Given the description of an element on the screen output the (x, y) to click on. 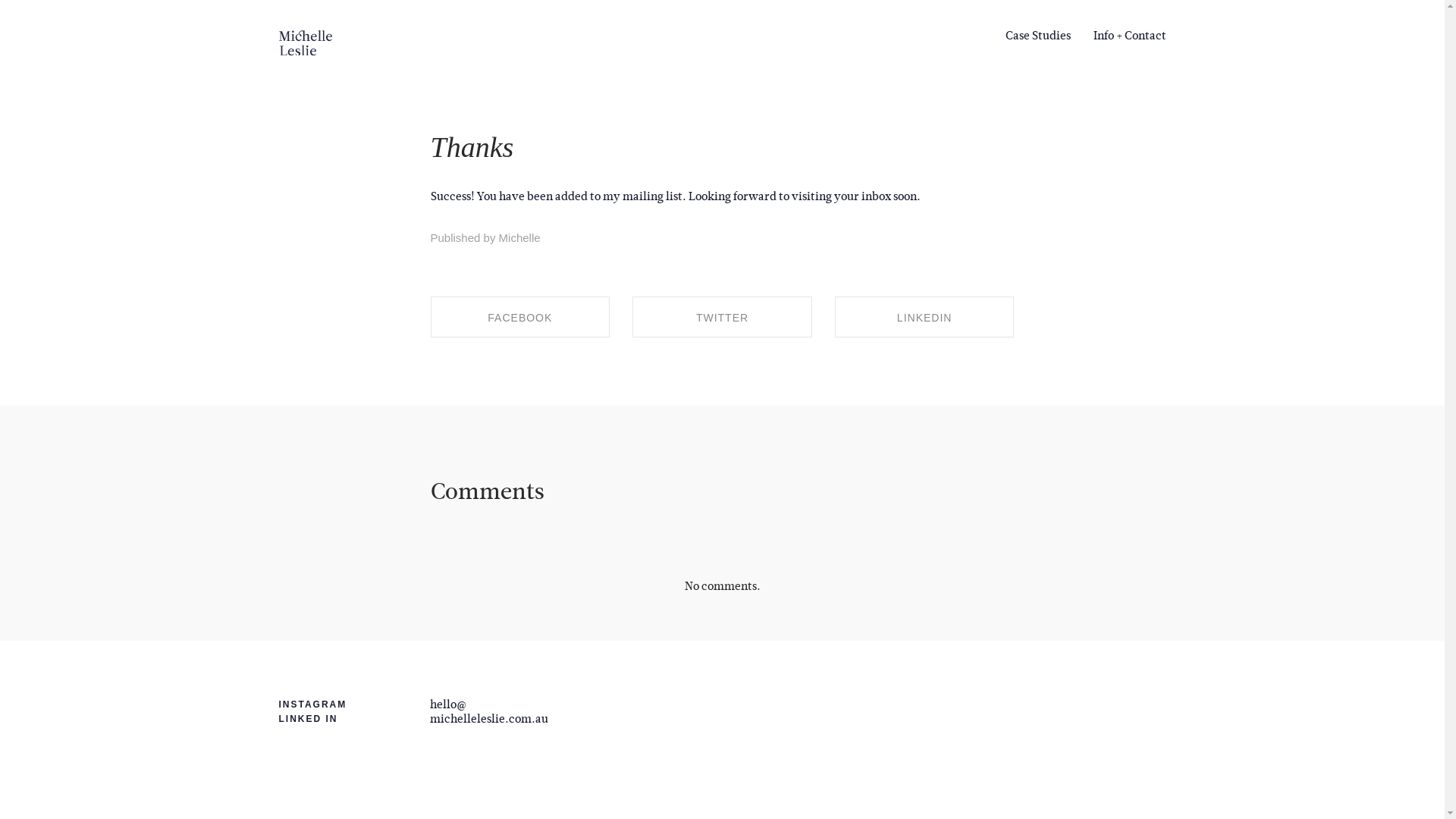
LINKED IN Element type: text (308, 718)
Case Studies Element type: text (1043, 35)
INSTAGRAM Element type: text (313, 704)
Thanks Element type: text (472, 147)
hello@
michelleleslie.com.au Element type: text (488, 711)
Info + Contact Element type: text (1123, 35)
